Given the description of an element on the screen output the (x, y) to click on. 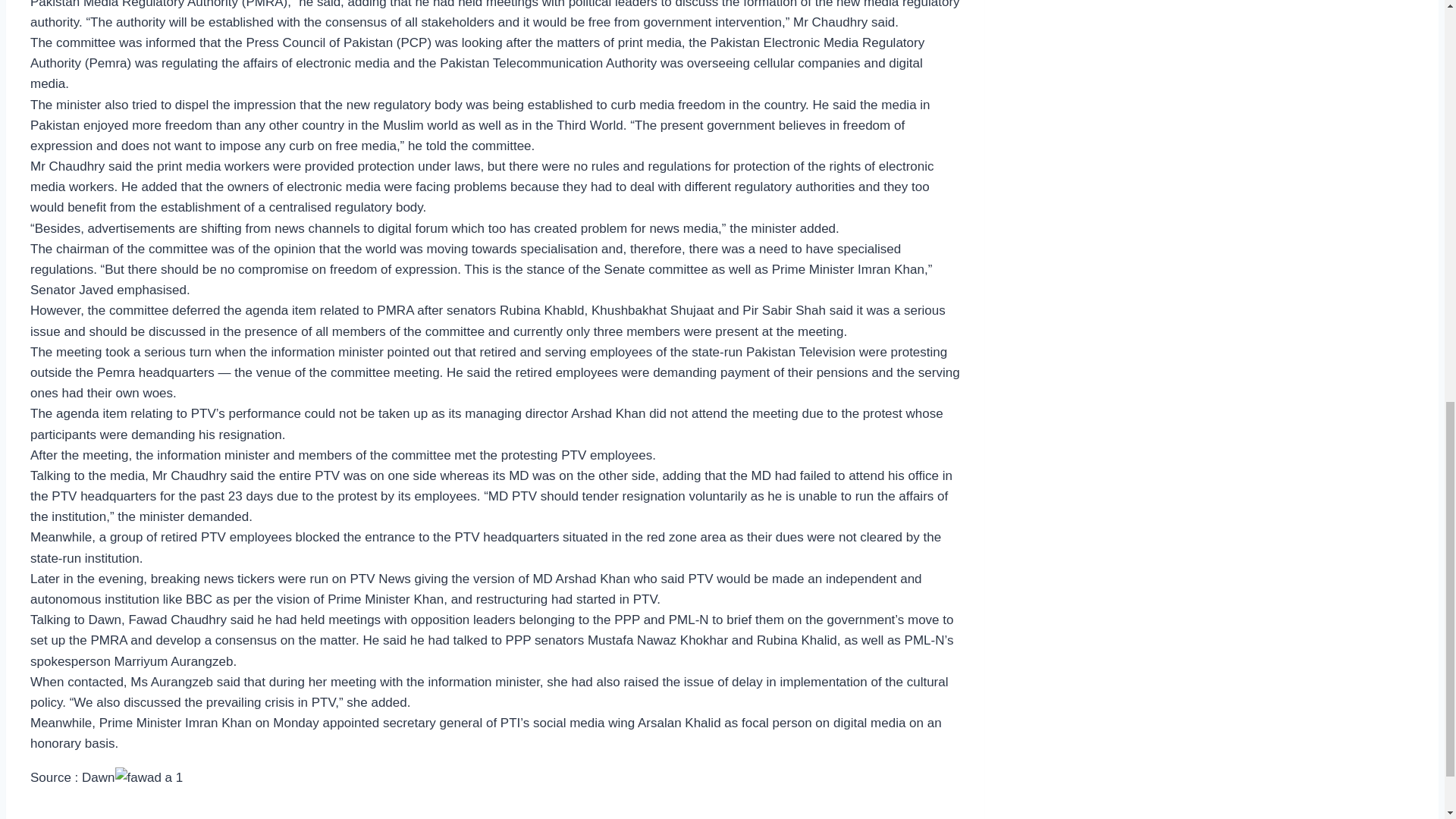
Fawad insists on one regulatory authority for all media 1 (149, 777)
